Given the description of an element on the screen output the (x, y) to click on. 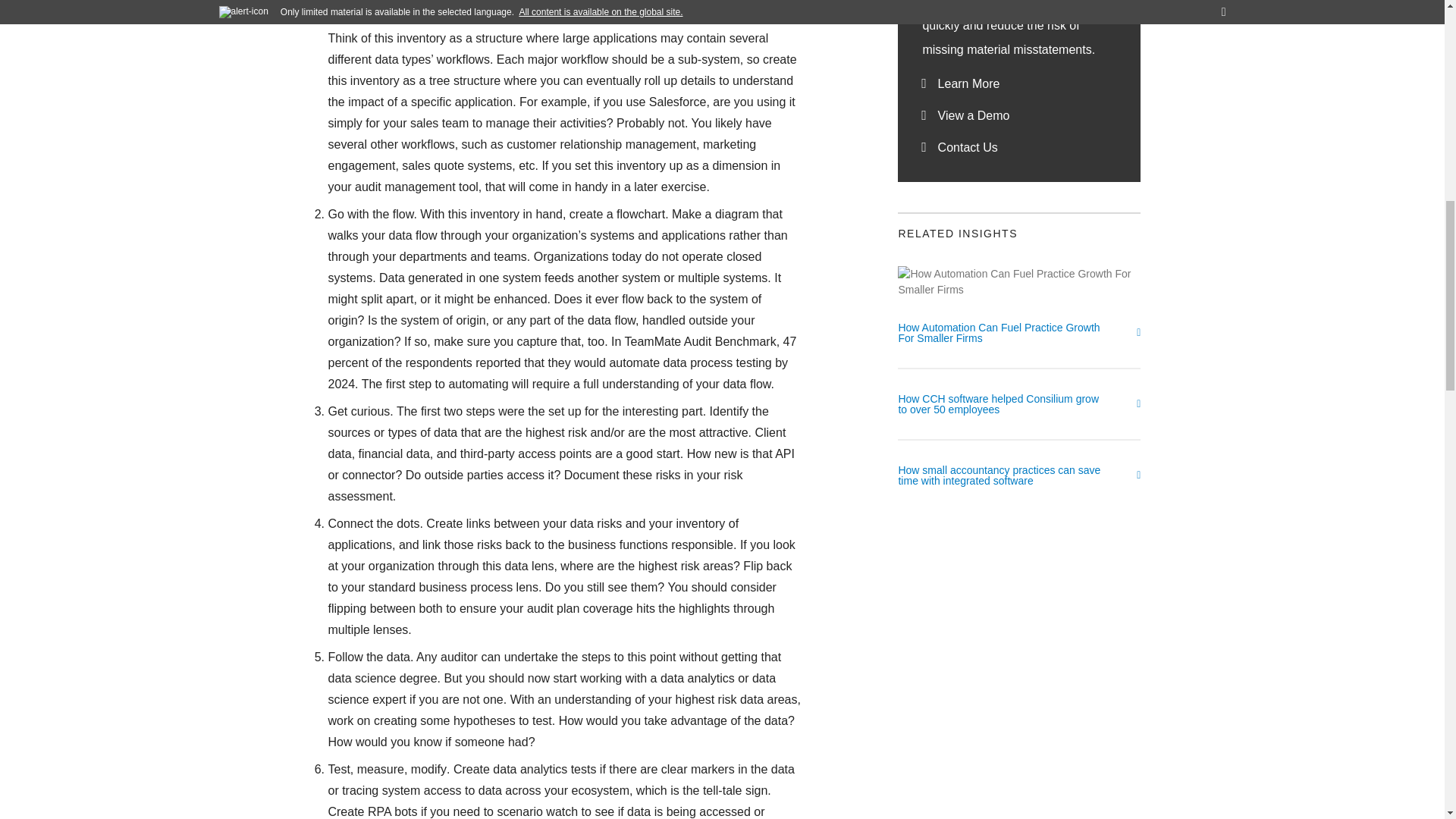
How CCH software helped Consilium grow to over 50 employees (1019, 404)
How Automation Can Fuel Practice Growth For Smaller Firms (1019, 345)
